Given the description of an element on the screen output the (x, y) to click on. 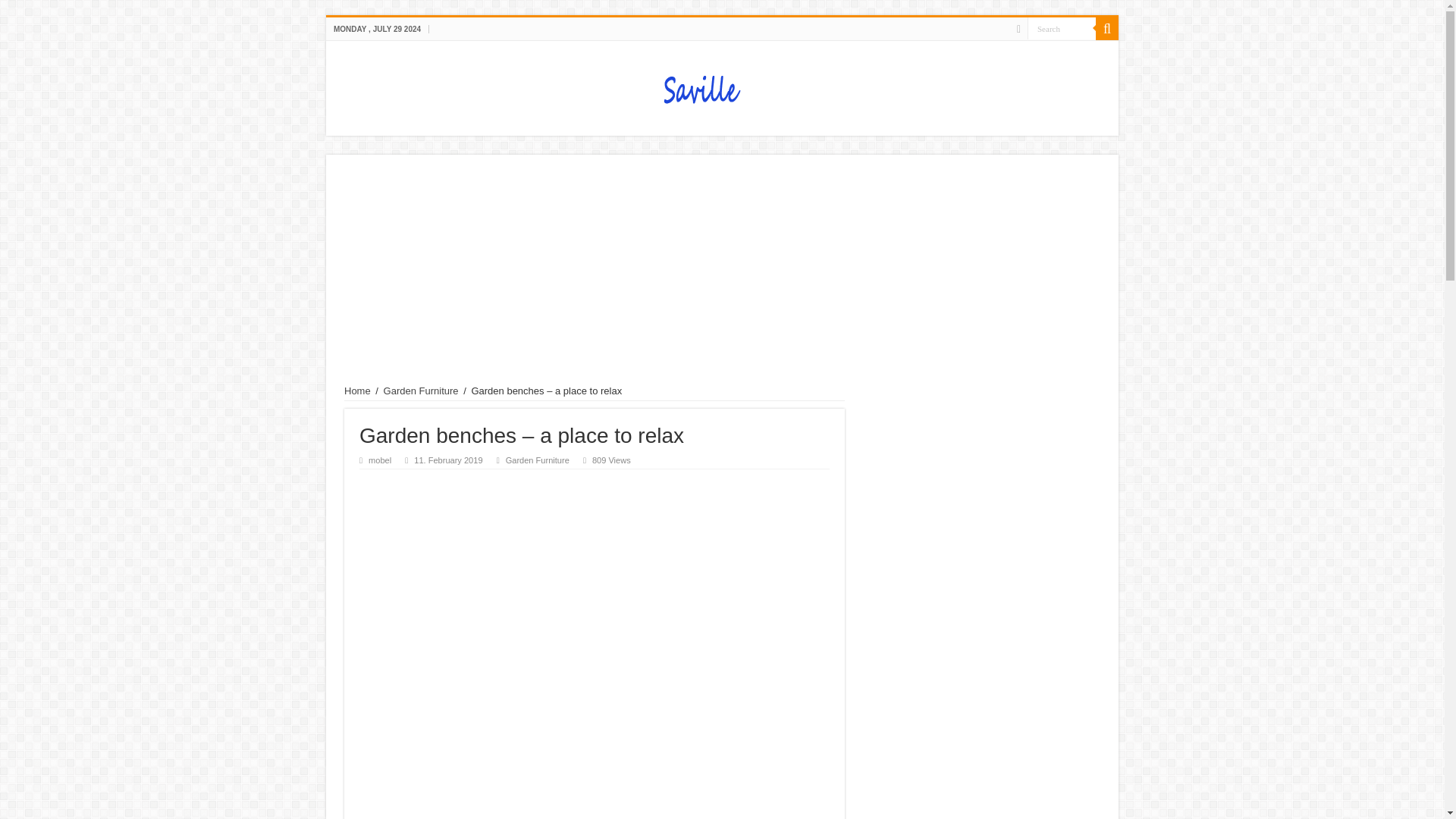
Garden Furniture (537, 460)
Home (357, 390)
Search (1107, 28)
Search (1061, 28)
Advertisement (594, 599)
savillefurniture (722, 85)
Garden Furniture (421, 390)
Search (1061, 28)
mobel (379, 460)
Search (1061, 28)
